Given the description of an element on the screen output the (x, y) to click on. 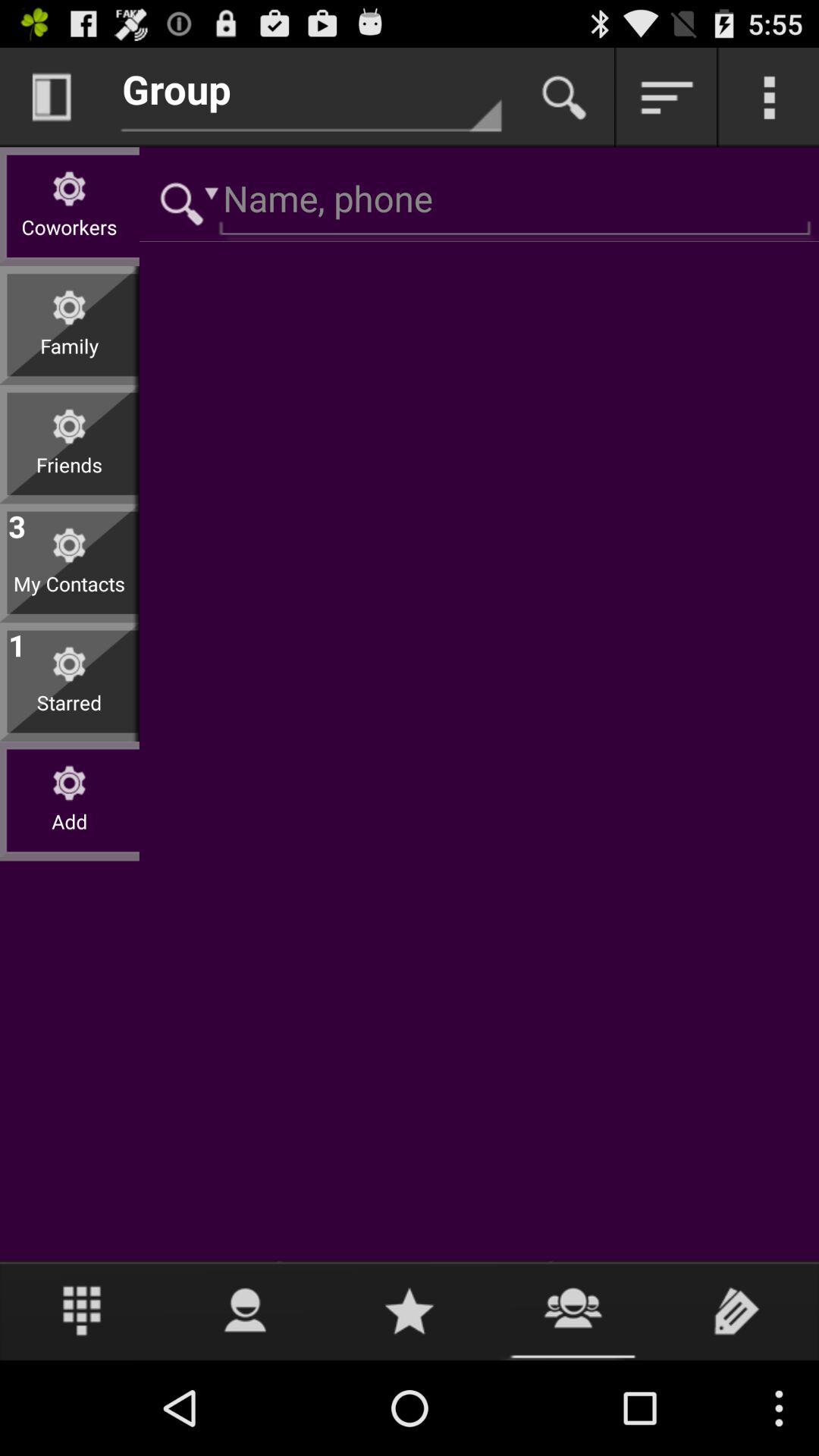
jump until 1 (16, 642)
